Given the description of an element on the screen output the (x, y) to click on. 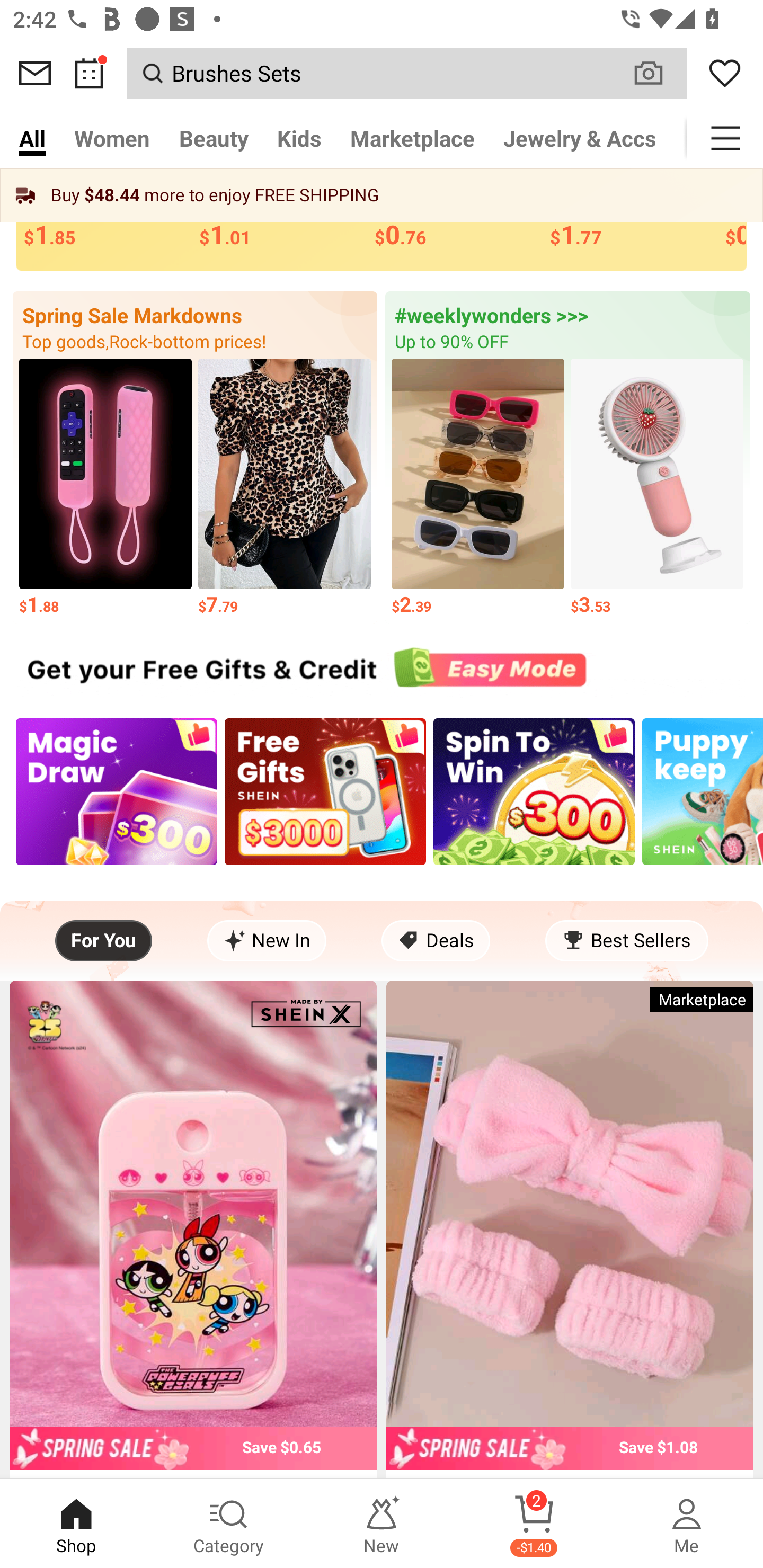
Wishlist (724, 72)
VISUAL SEARCH (657, 72)
All (31, 137)
Women (111, 137)
Beauty (213, 137)
Kids (298, 137)
Marketplace (412, 137)
Jewelry & Accs (580, 137)
Buy $48.44 more to enjoy FREE SHIPPING (381, 194)
$1.88 Price $1.88 (105, 488)
$7.79 Price $7.79 (284, 488)
$2.39 Price $2.39 (477, 488)
$3.53 Price $3.53 (656, 488)
New In (266, 940)
Deals (435, 940)
Best Sellers (626, 940)
Category (228, 1523)
New (381, 1523)
Cart 2 -$1.40 (533, 1523)
Me (686, 1523)
